Given the description of an element on the screen output the (x, y) to click on. 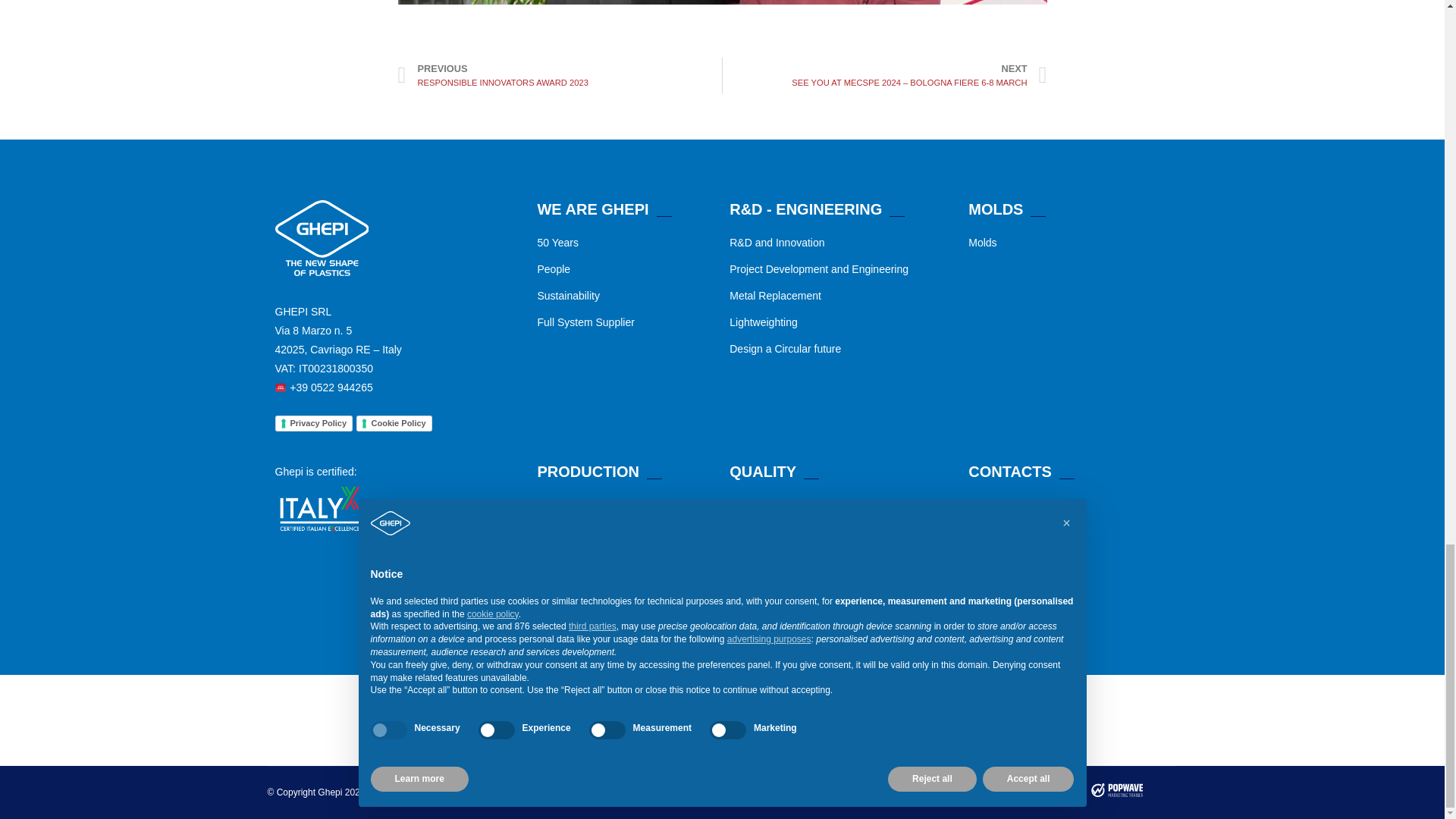
Cookie Policy  (394, 423)
Privacy Policy  (313, 423)
